Given the description of an element on the screen output the (x, y) to click on. 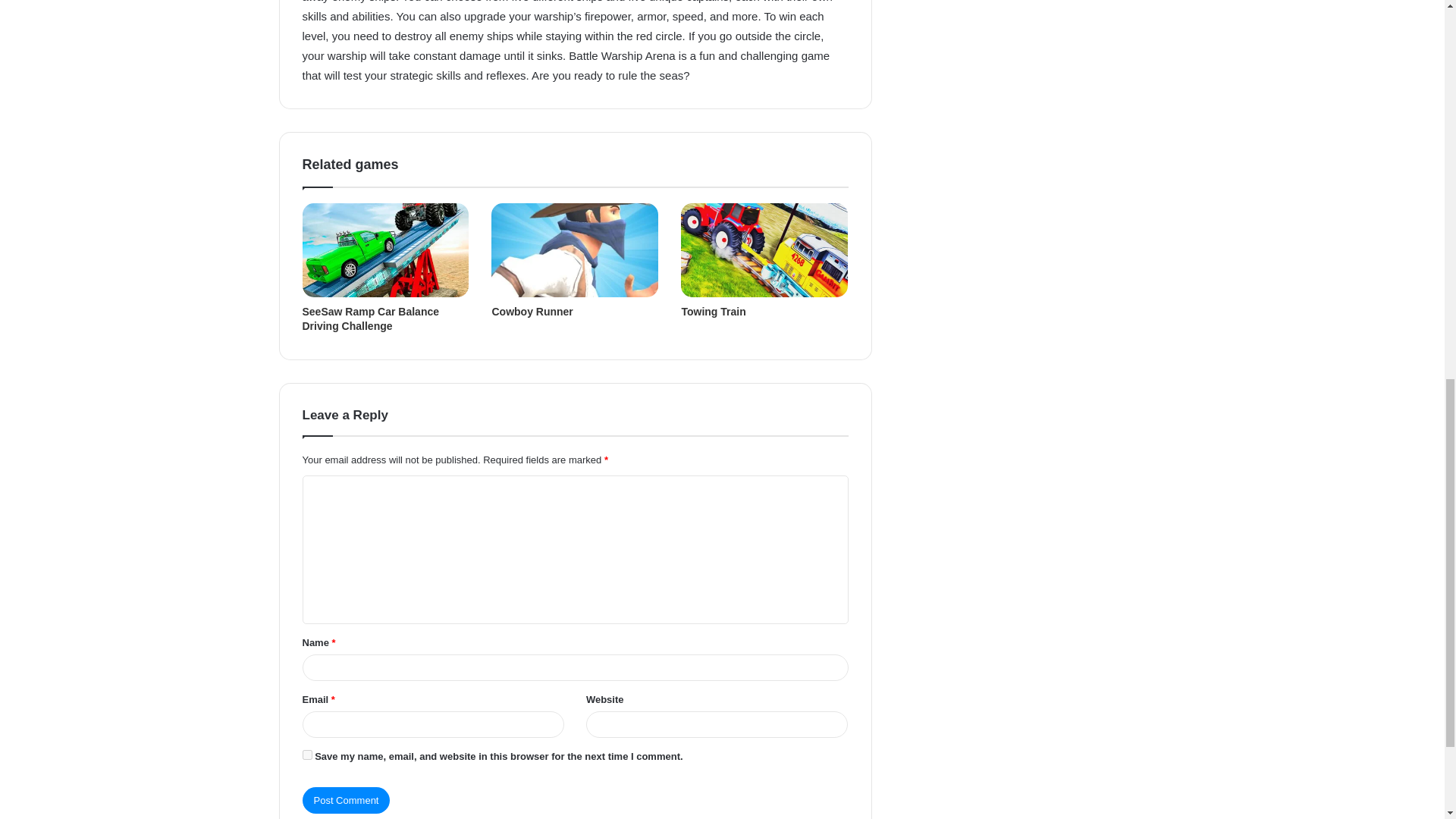
Post Comment (345, 800)
SeeSaw Ramp Car Balance Driving Challenge (370, 318)
yes (306, 755)
Post Comment (345, 800)
Towing Train (713, 311)
Cowboy Runner (532, 311)
